Given the description of an element on the screen output the (x, y) to click on. 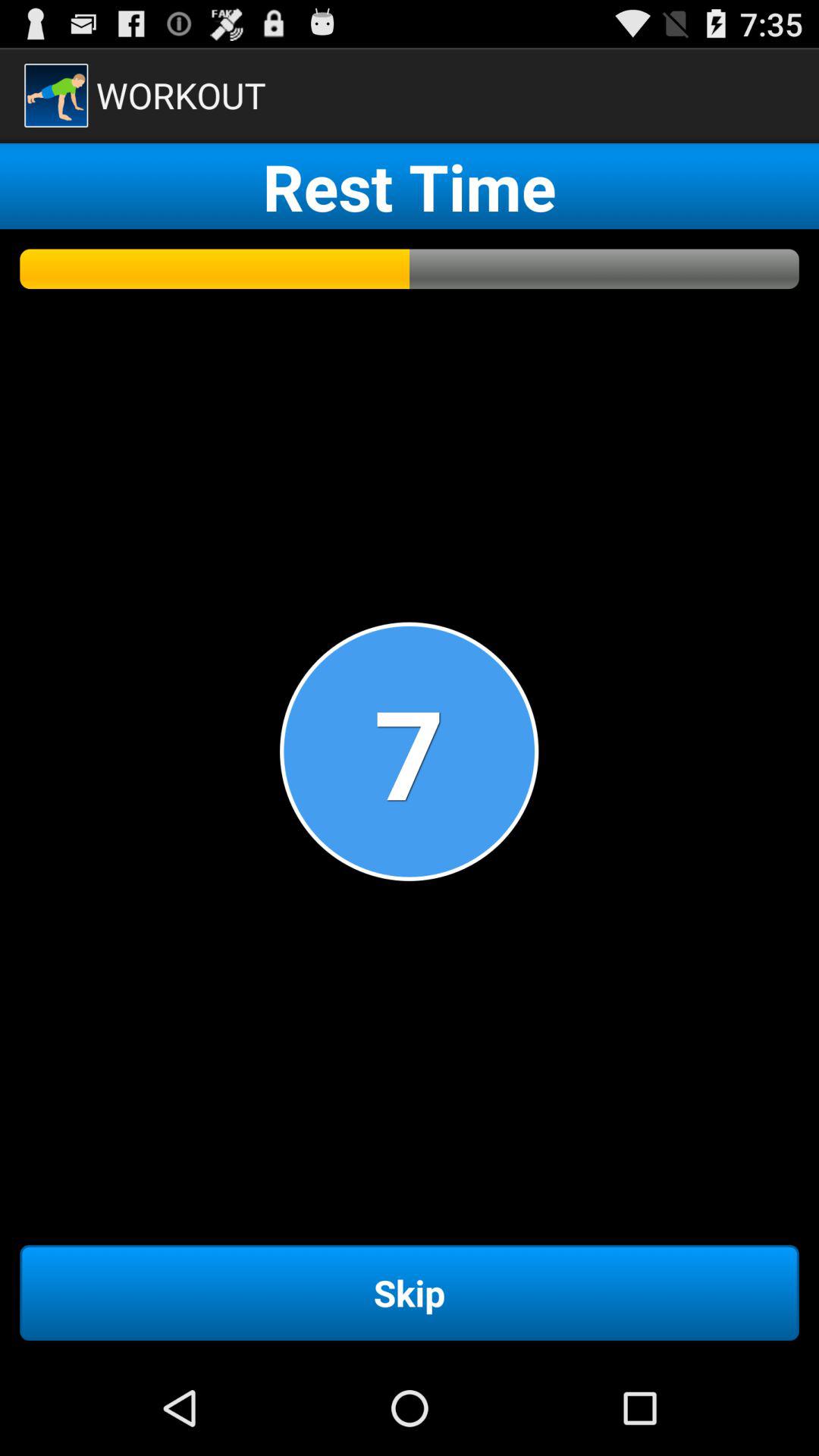
turn off the item below the 7 app (409, 1292)
